Given the description of an element on the screen output the (x, y) to click on. 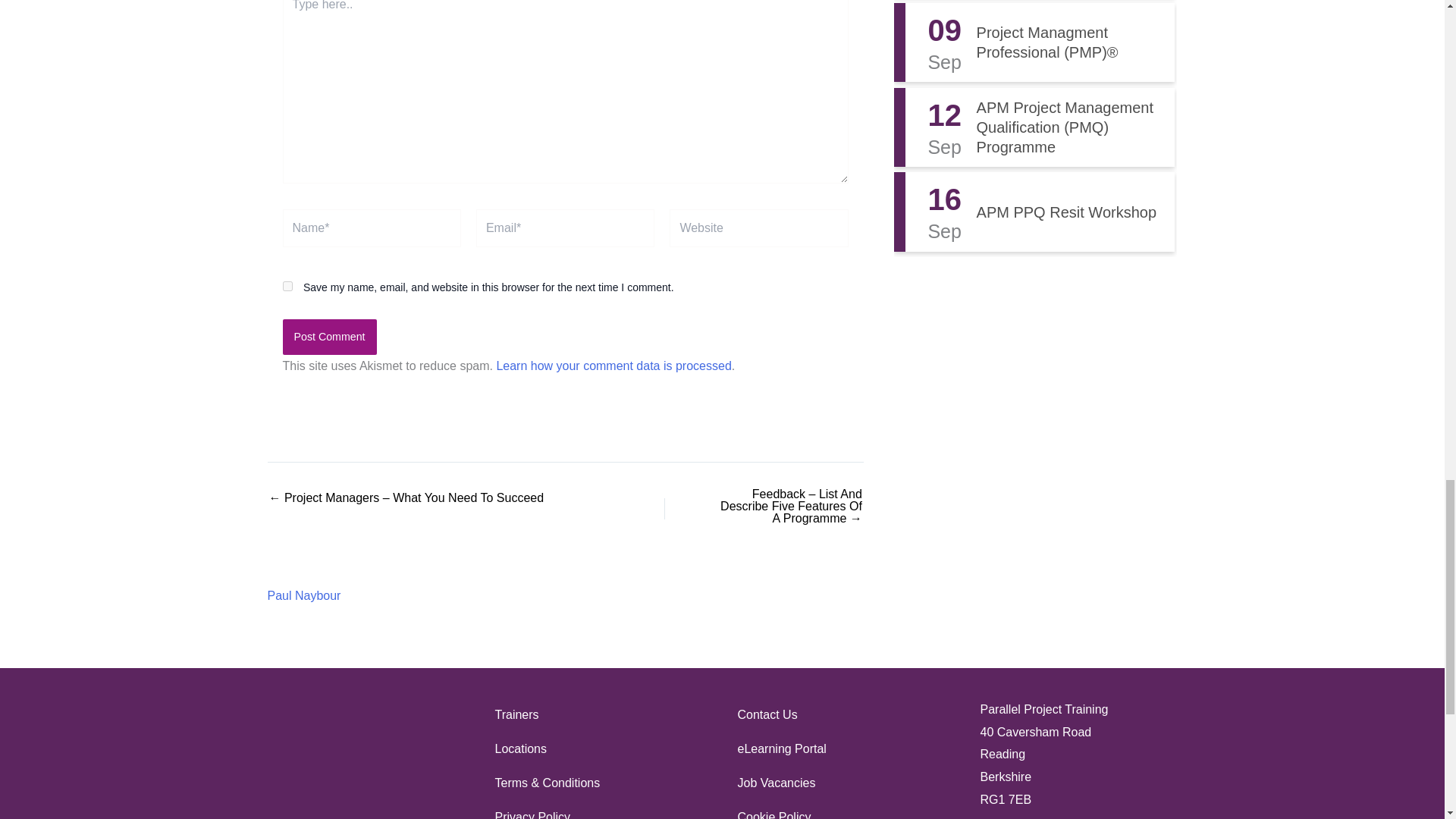
yes (287, 286)
white-geese-logo-min (357, 758)
Post Comment (328, 336)
